Given the description of an element on the screen output the (x, y) to click on. 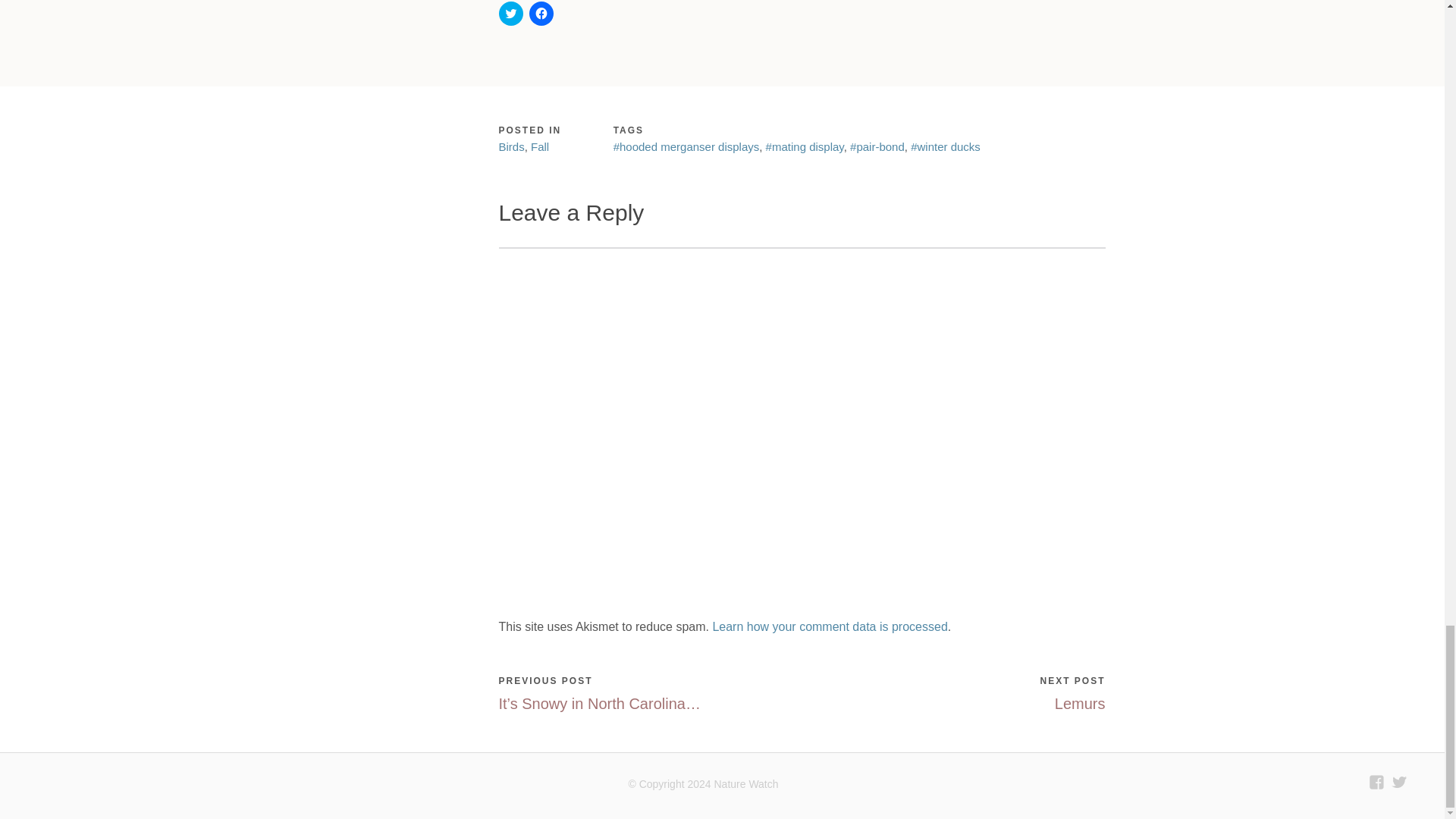
Click to share on Facebook (541, 13)
Birds (511, 146)
Fall (539, 146)
Lemurs (1079, 703)
Learn how your comment data is processed (829, 626)
Click to share on Twitter (510, 13)
